Given the description of an element on the screen output the (x, y) to click on. 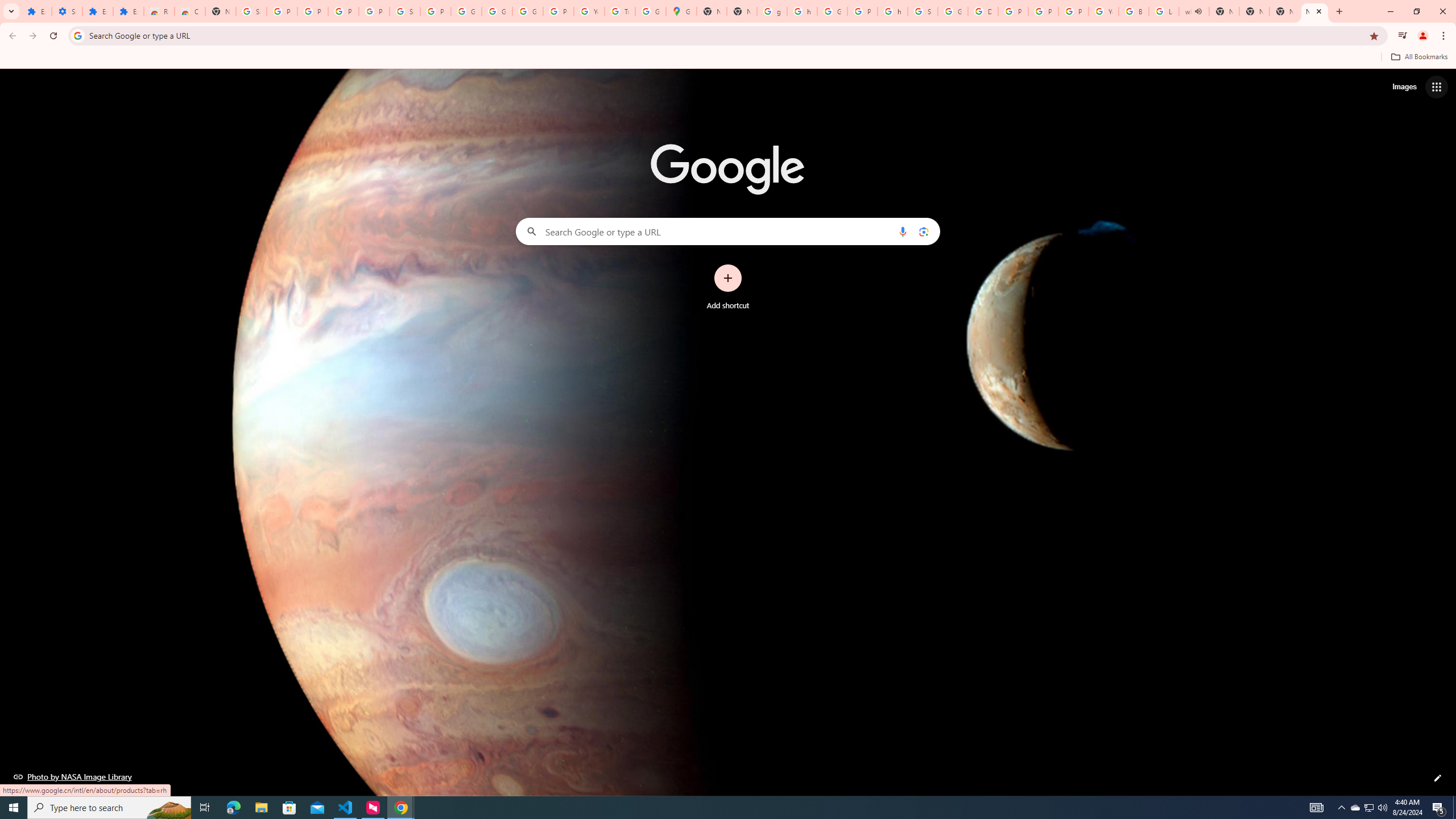
Settings (66, 11)
Add shortcut (727, 287)
Reviews: Helix Fruit Jump Arcade Game (158, 11)
